Given the description of an element on the screen output the (x, y) to click on. 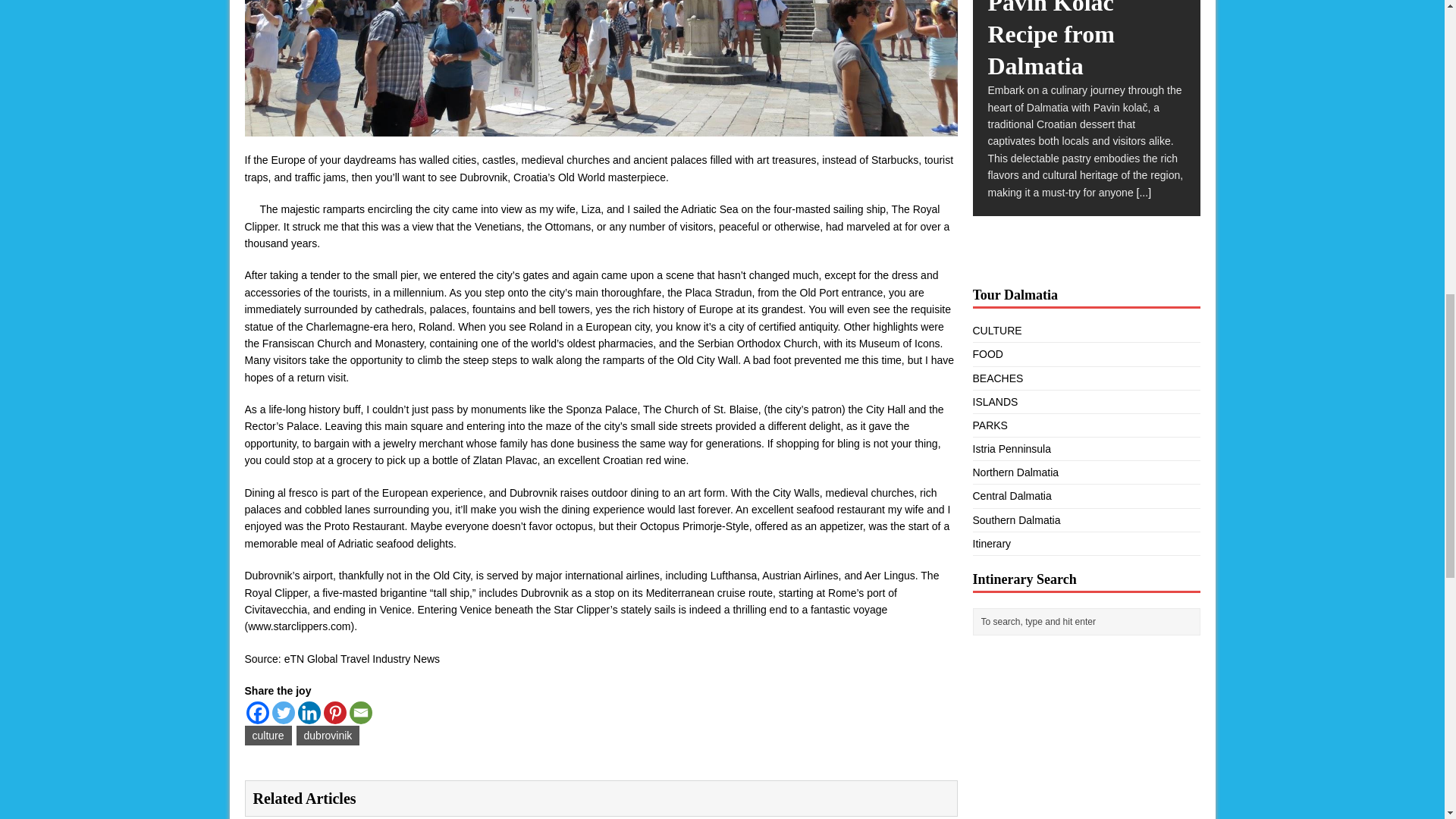
To search, type and hit enter (1089, 621)
2013-07-27 11.11 (600, 68)
Facebook (256, 712)
